Given the description of an element on the screen output the (x, y) to click on. 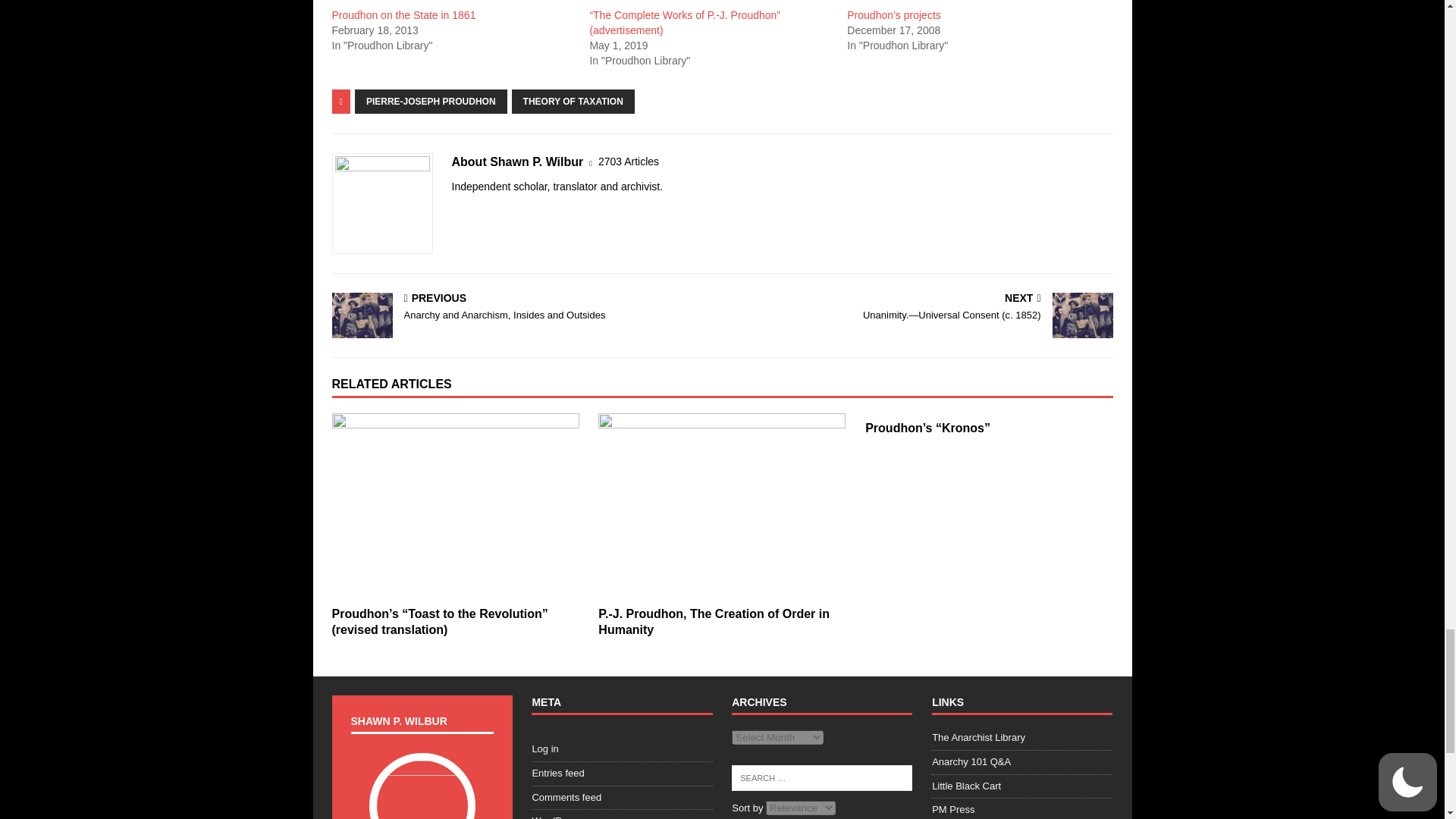
P.-J. Proudhon, The Creation of Order in Humanity (721, 505)
P.-J. Proudhon, The Creation of Order in Humanity (713, 621)
Proudhon on the State in 1861 (403, 15)
Proudhon on the State in 1861 (403, 15)
PIERRE-JOSEPH PROUDHON (430, 101)
More articles written by Shawn P. Wilbur' (628, 161)
